Given the description of an element on the screen output the (x, y) to click on. 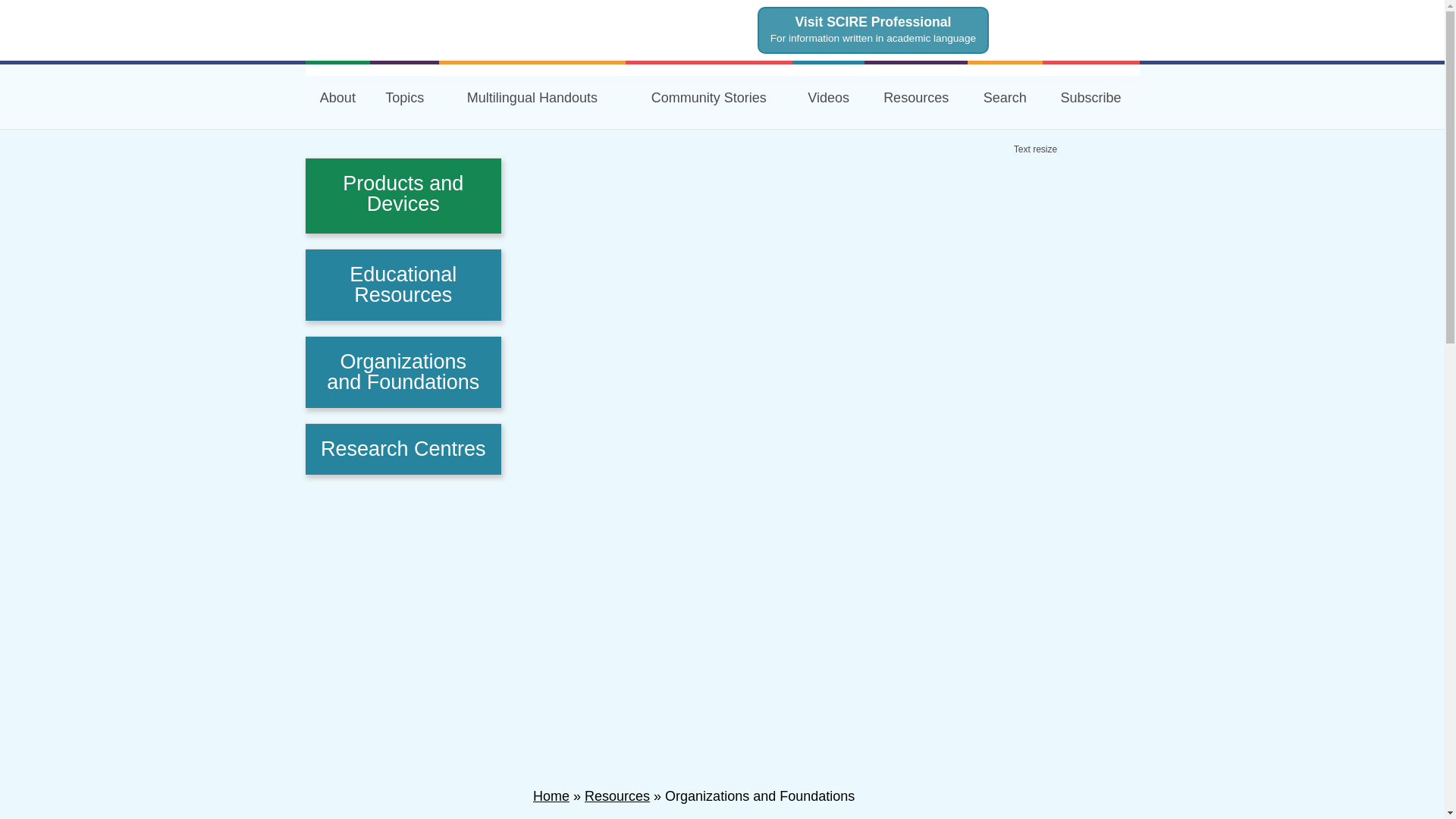
Topics (404, 96)
Subscribe (1090, 96)
Community Stories (709, 96)
Skip to main content (725, 11)
Topics (404, 96)
Videos (828, 96)
Videos (828, 96)
Resources (916, 96)
Search (1005, 96)
Multilingual Handouts (532, 96)
About (336, 96)
Community Stories (709, 96)
About (336, 96)
Handouts (532, 96)
